Given the description of an element on the screen output the (x, y) to click on. 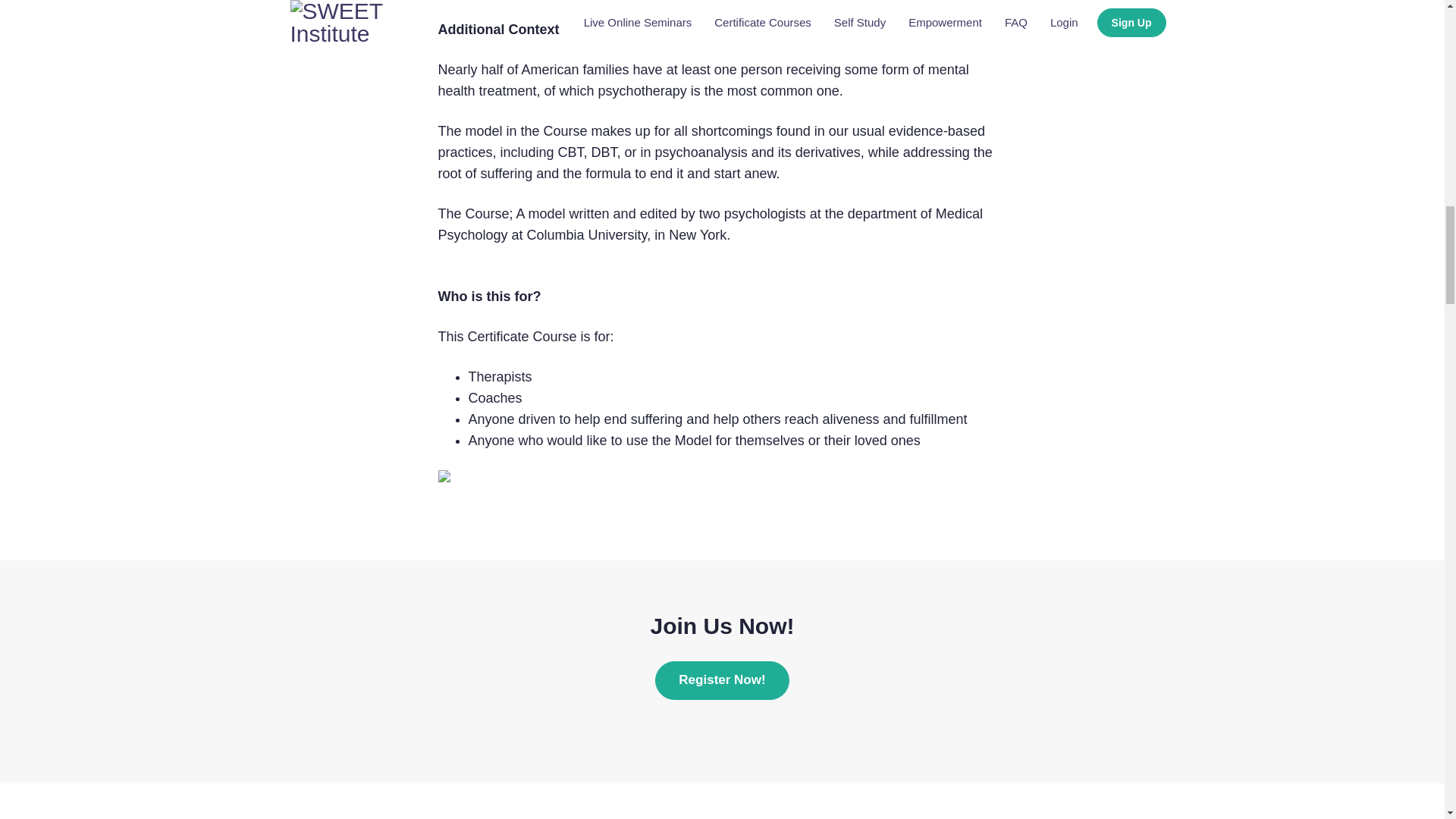
Register Now! (722, 679)
